Given the description of an element on the screen output the (x, y) to click on. 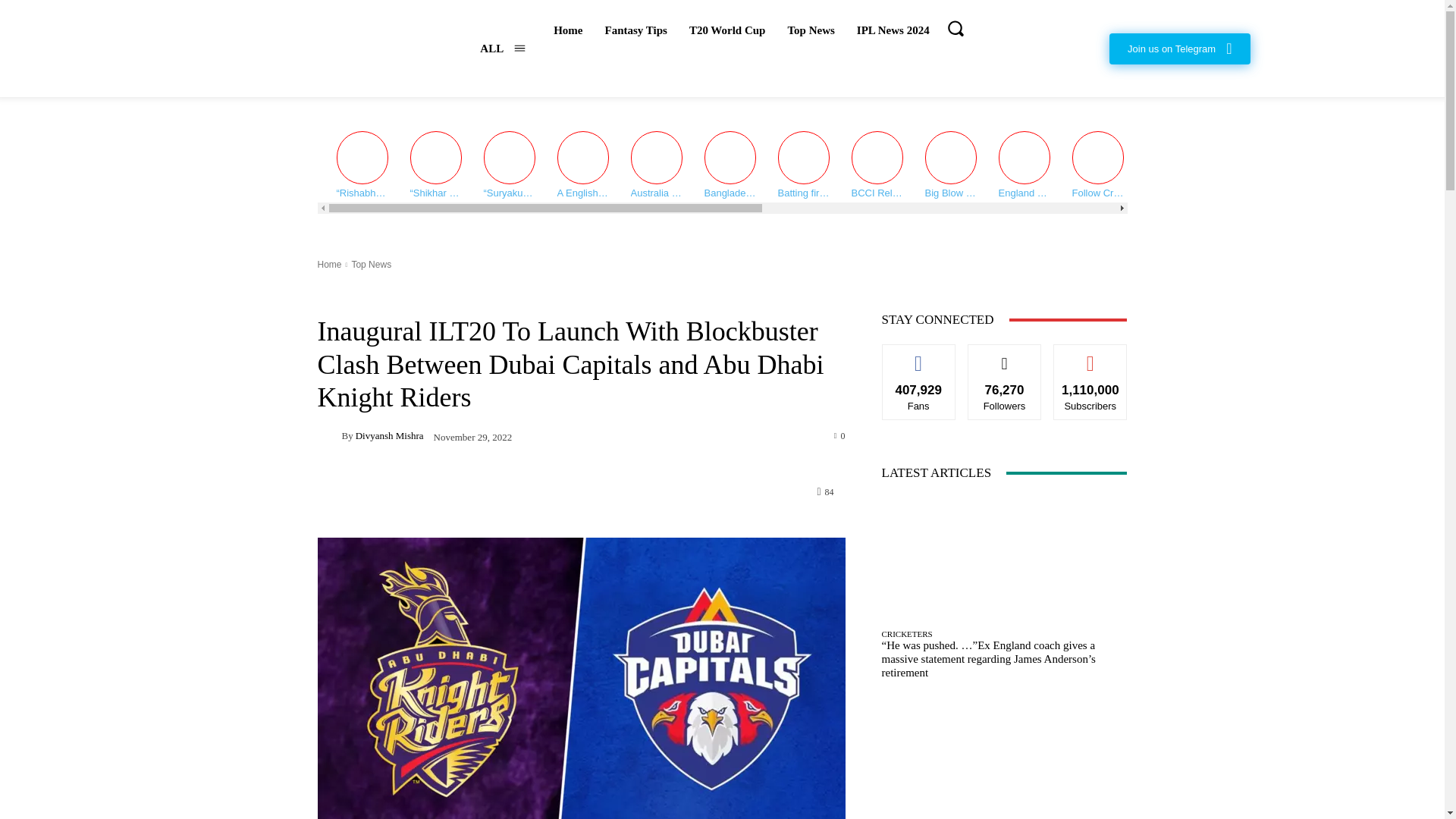
ALL (502, 48)
All (502, 48)
